Given the description of an element on the screen output the (x, y) to click on. 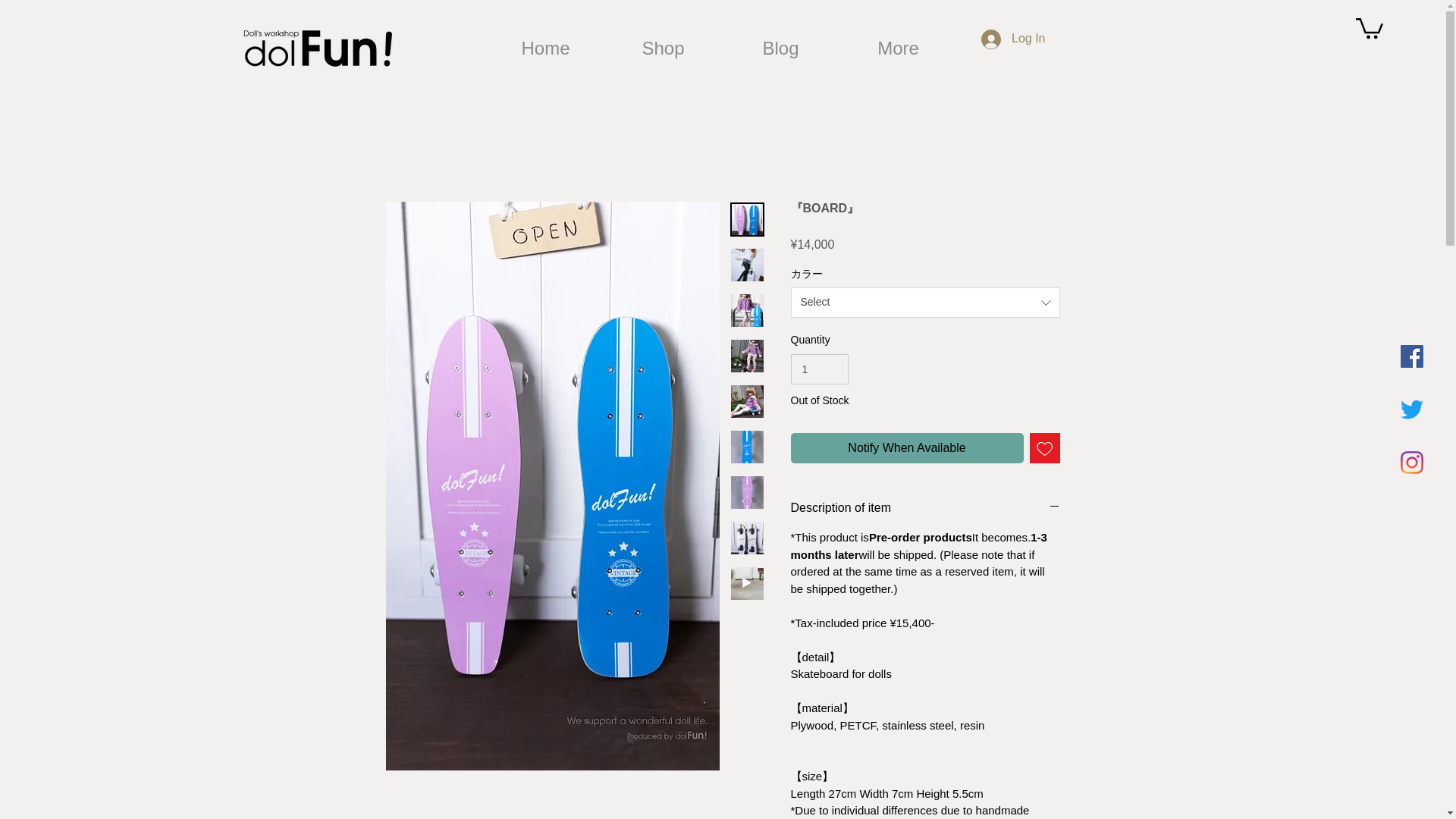
Notify When Available (906, 448)
Blog (781, 48)
Log In (1013, 38)
Home (545, 48)
Shop (663, 48)
Description of item (924, 507)
Select (924, 302)
1 (818, 368)
